Given the description of an element on the screen output the (x, y) to click on. 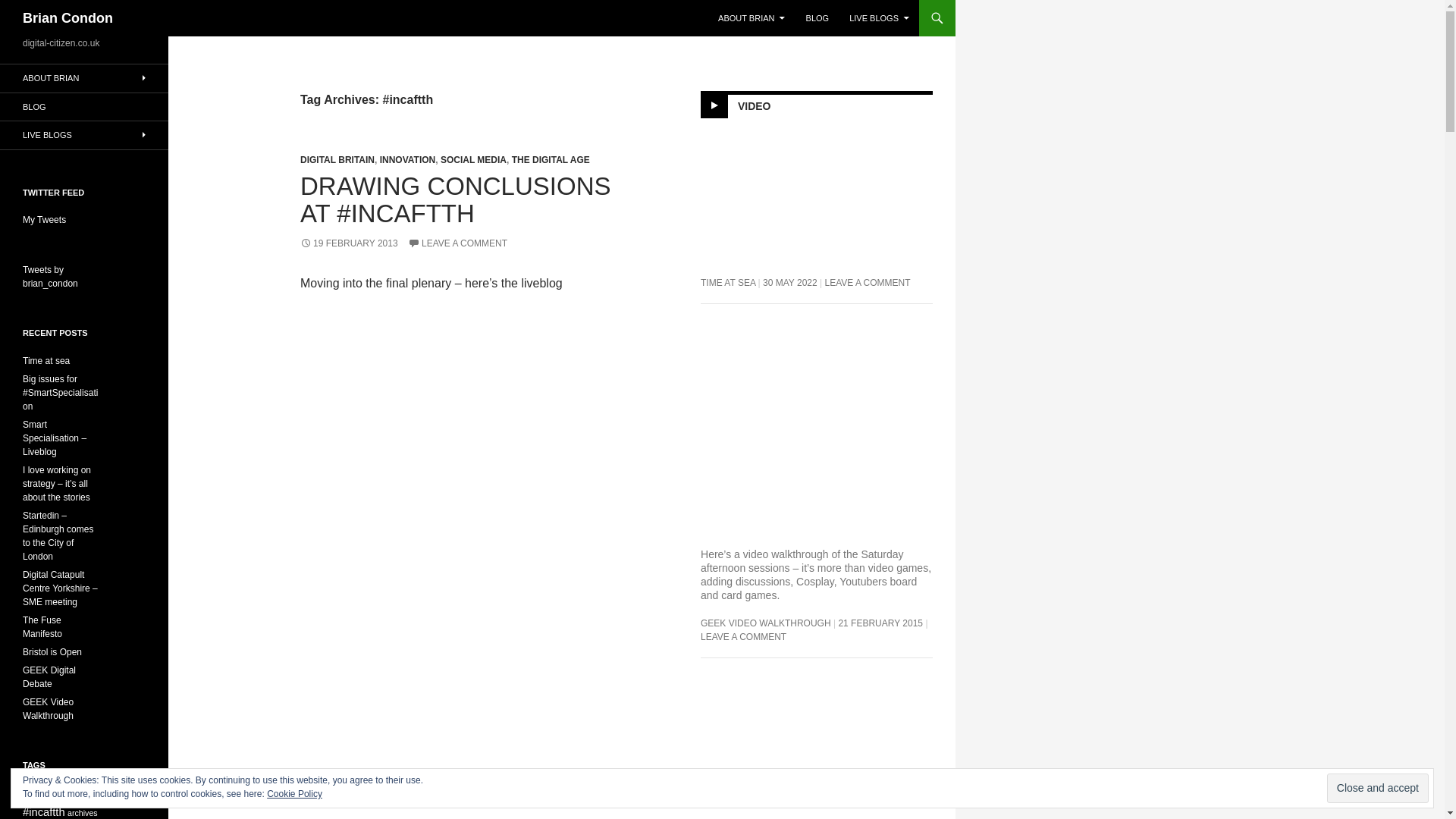
SOCIAL MEDIA (473, 159)
19 FEBRUARY 2013 (348, 243)
LEAVE A COMMENT (456, 243)
ABOUT BRIAN (751, 18)
INNOVATION (407, 159)
Close and accept (1377, 788)
DIGITAL BRITAIN (336, 159)
Brian Condon (68, 18)
LIVE BLOGS (879, 18)
THE DIGITAL AGE (550, 159)
BLOG (817, 18)
